Given the description of an element on the screen output the (x, y) to click on. 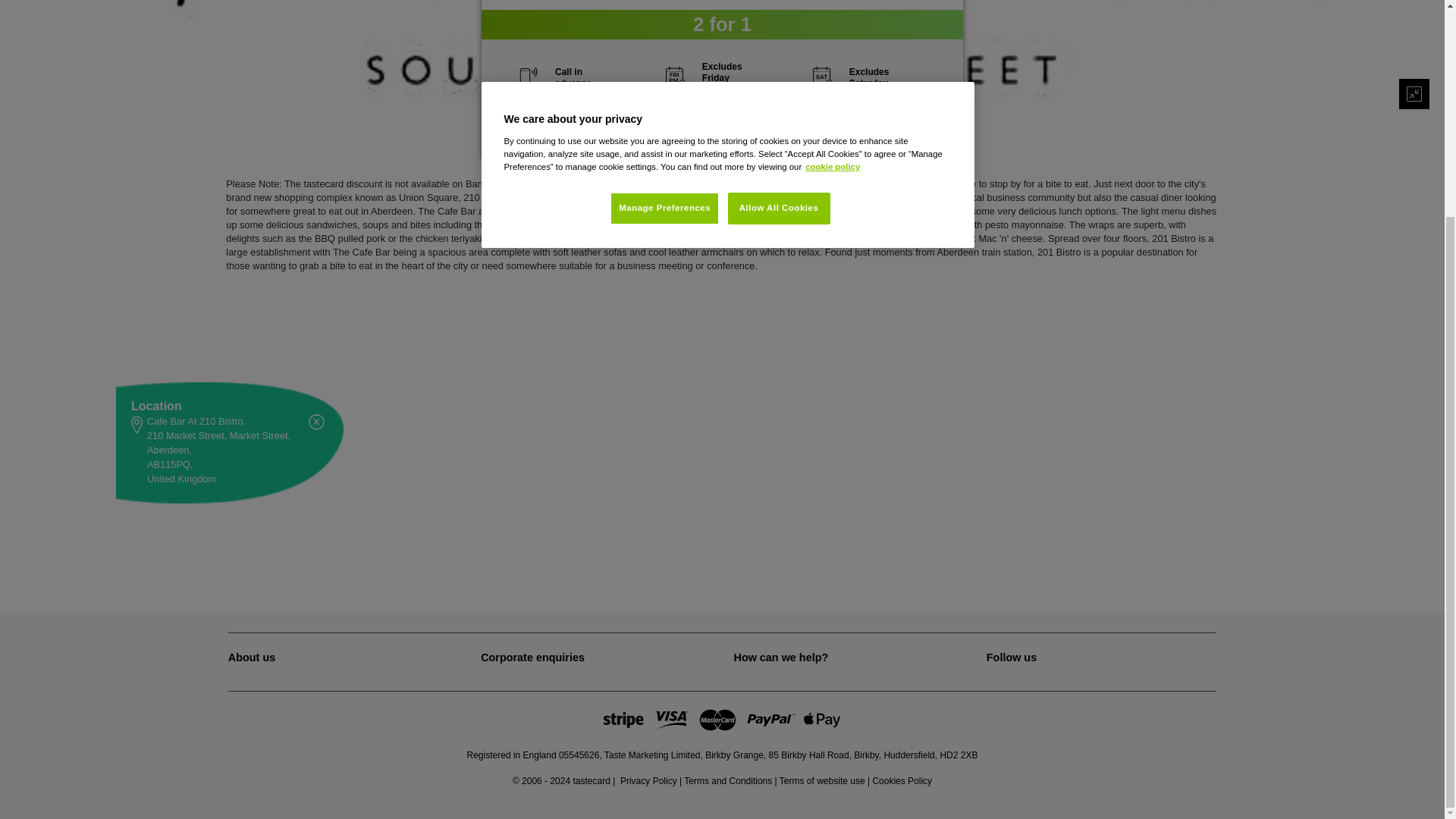
Privacy policy (648, 780)
